Given the description of an element on the screen output the (x, y) to click on. 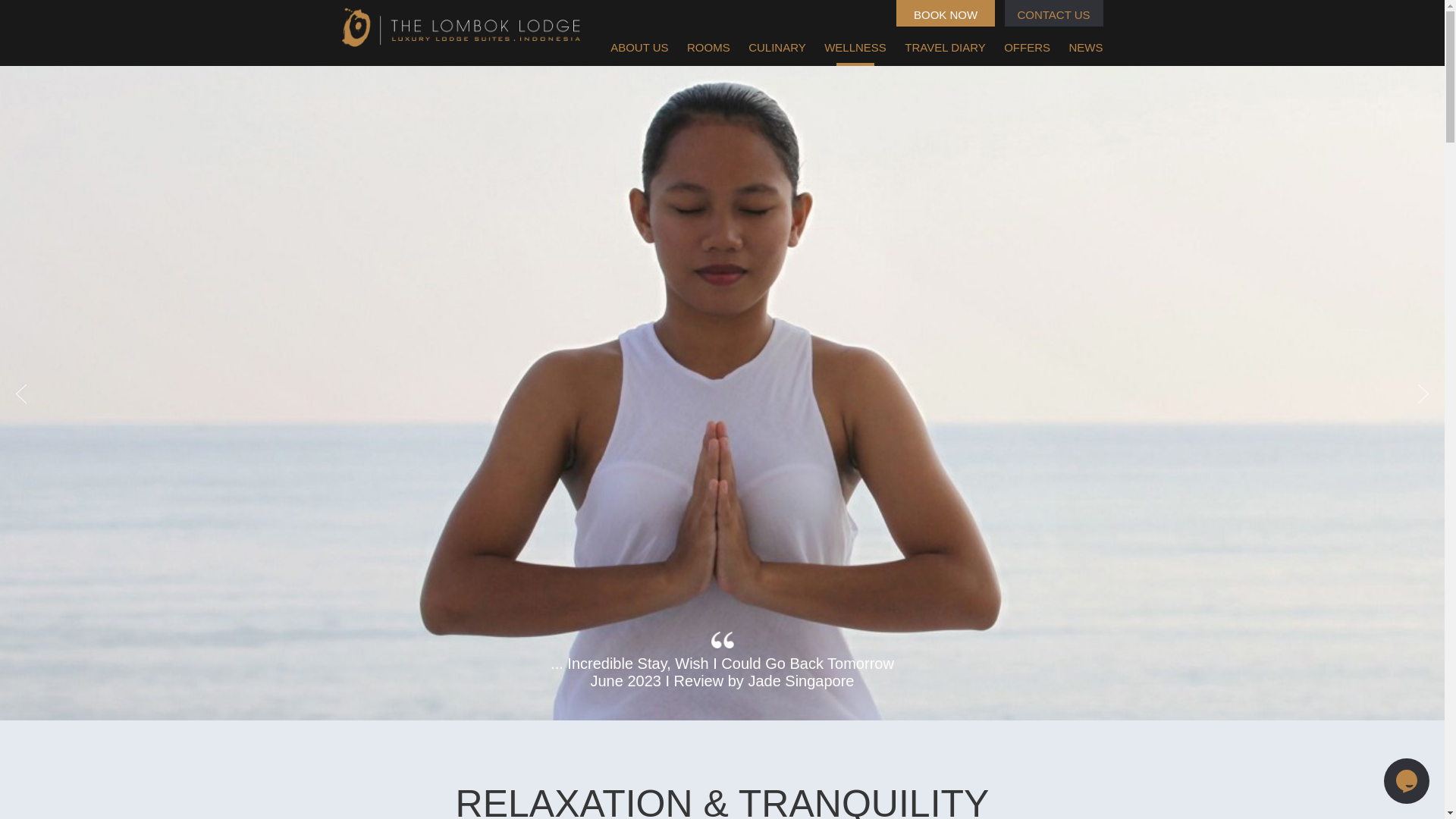
OFFERS (1026, 47)
CULINARY (777, 47)
WELLNESS (855, 47)
Next (1422, 394)
ROOMS (708, 47)
The Lombok Lodge I Exclusive Luxury in Lombok (459, 26)
Chat with us through WhatsApp (1406, 780)
NEWS (1085, 47)
ABOUT US (639, 47)
BOOK NOW (945, 13)
Previous (20, 394)
CONTACT US (1053, 13)
TRAVEL DIARY (944, 47)
